Given the description of an element on the screen output the (x, y) to click on. 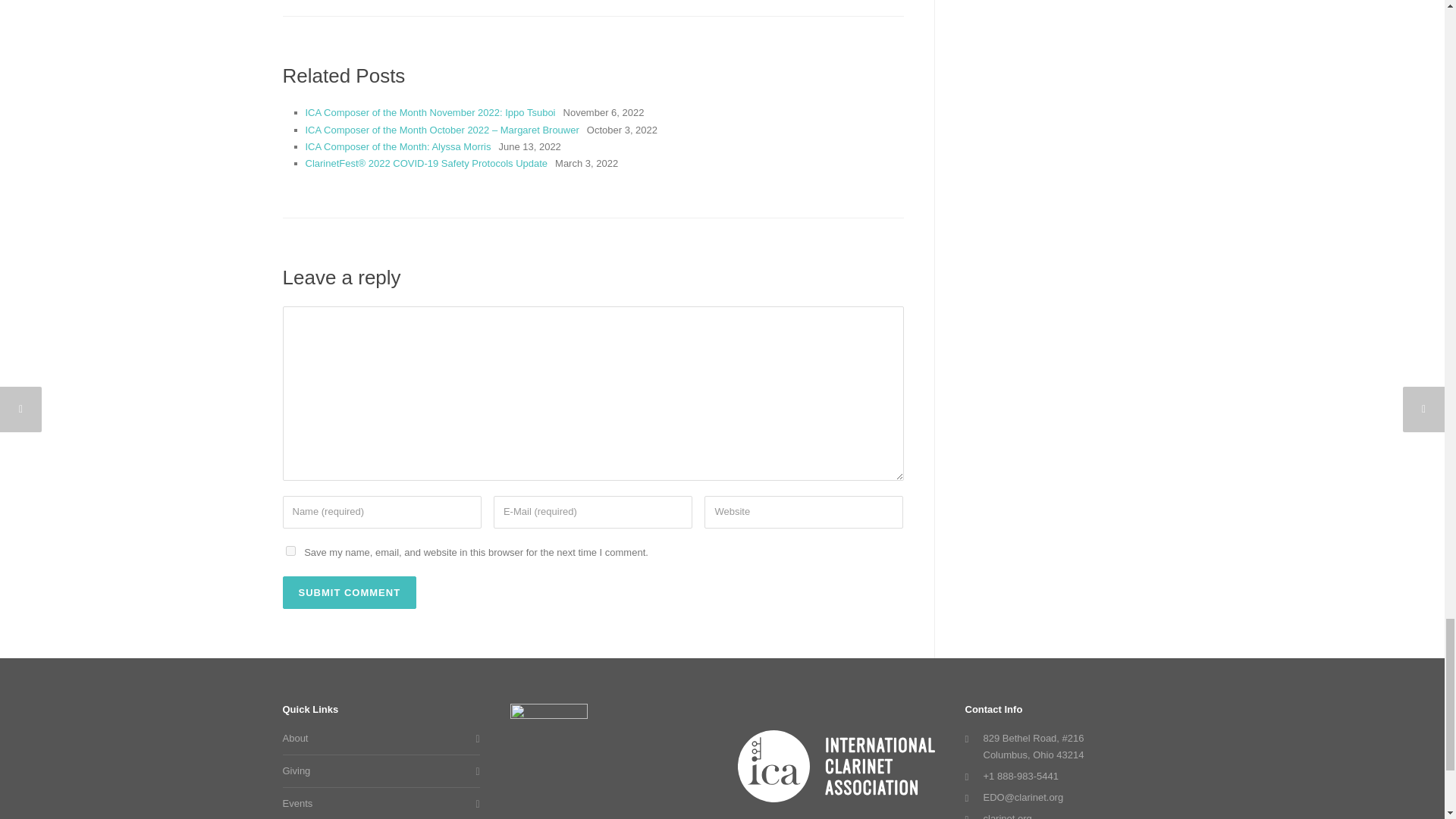
yes (290, 551)
Submit Comment (349, 592)
Website (803, 512)
Link to ICA Composer of the Month November 2022: Ippo Tsuboi (429, 112)
Link to ICA Composer of the Month: Alyssa Morris (397, 146)
